Given the description of an element on the screen output the (x, y) to click on. 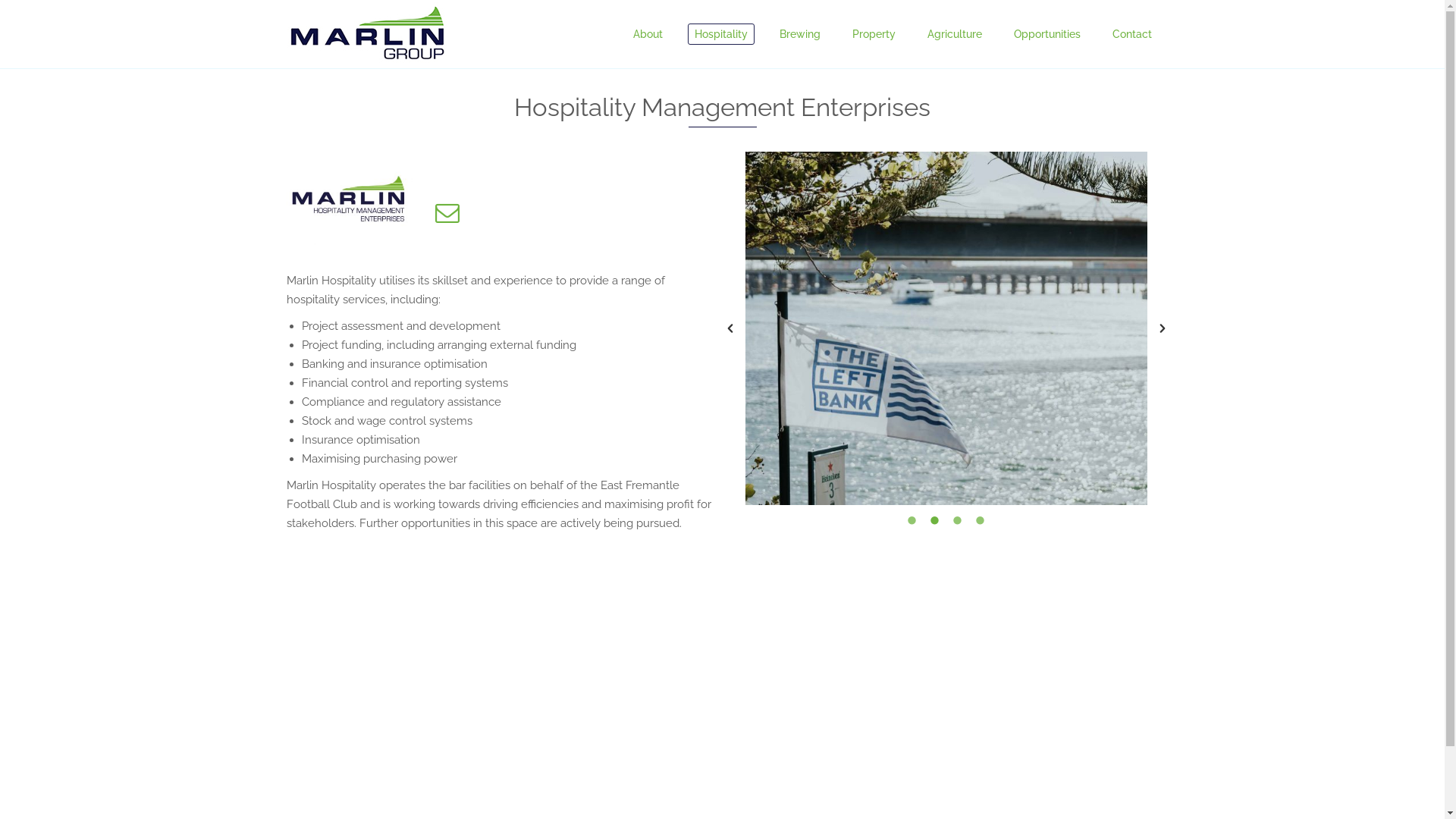
Hospitality Element type: text (720, 33)
Opportunities Element type: text (1047, 33)
Property Element type: text (872, 33)
Contact Element type: text (1131, 33)
Agriculture Element type: text (954, 33)
Brewing Element type: text (798, 33)
The-Left-Bank-Sunday-Session Element type: hover (945, 328)
About Element type: text (647, 33)
